Given the description of an element on the screen output the (x, y) to click on. 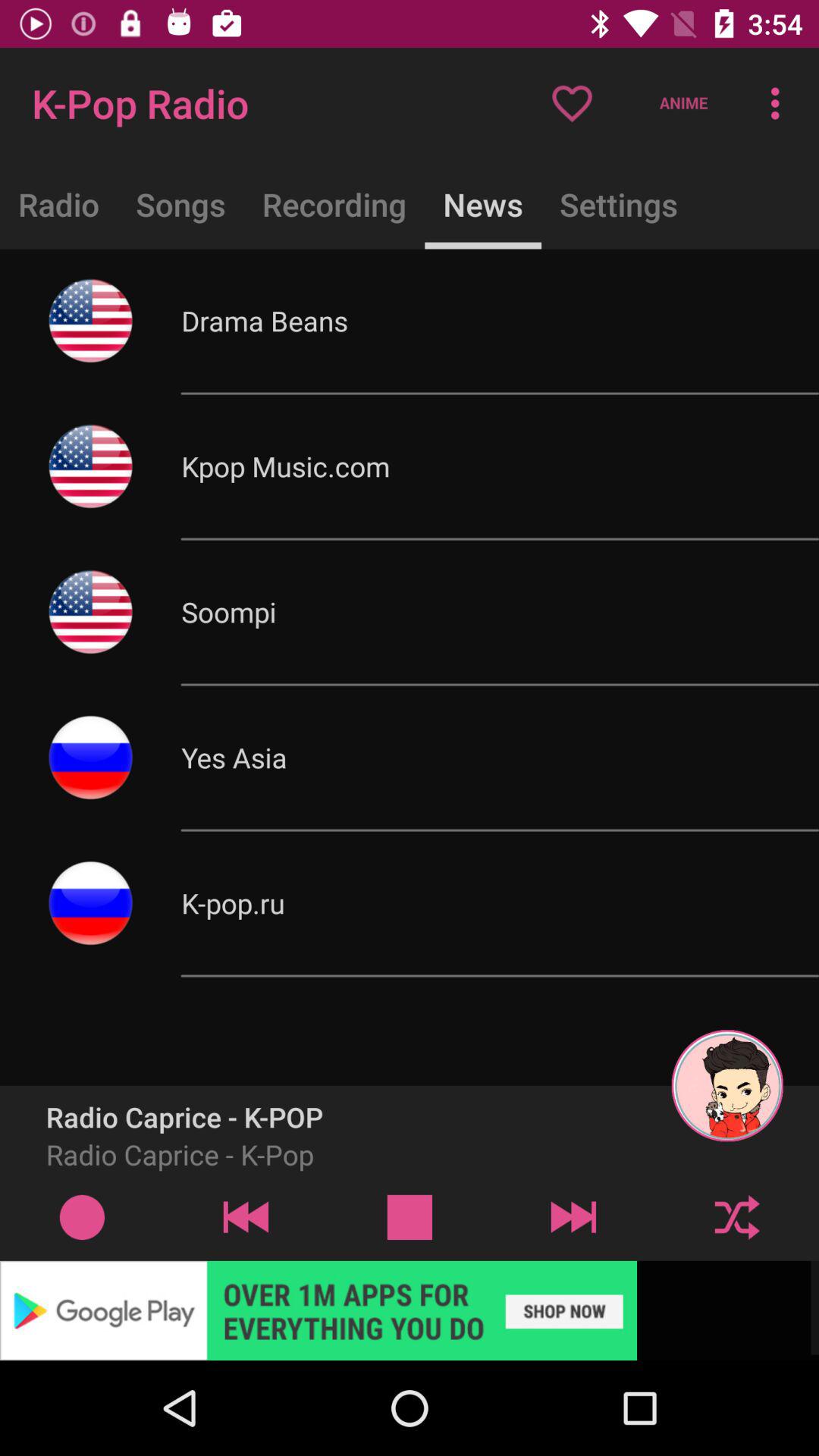
rewind (245, 1216)
